Given the description of an element on the screen output the (x, y) to click on. 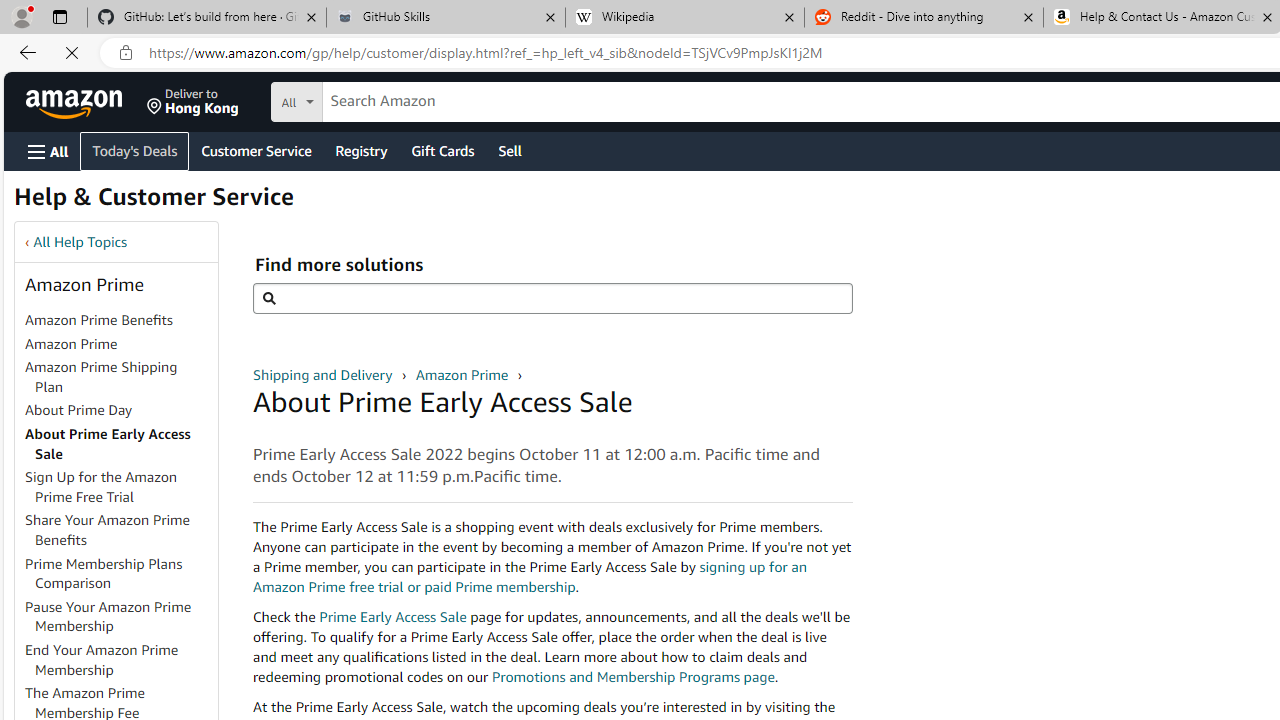
Today's Deals (67, 187)
Deliver to Hong Kong (193, 101)
Gift Cards (442, 150)
Grocery Deals (500, 187)
Customer Service (256, 150)
Wikipedia (684, 17)
Coupons (151, 187)
